Given the description of an element on the screen output the (x, y) to click on. 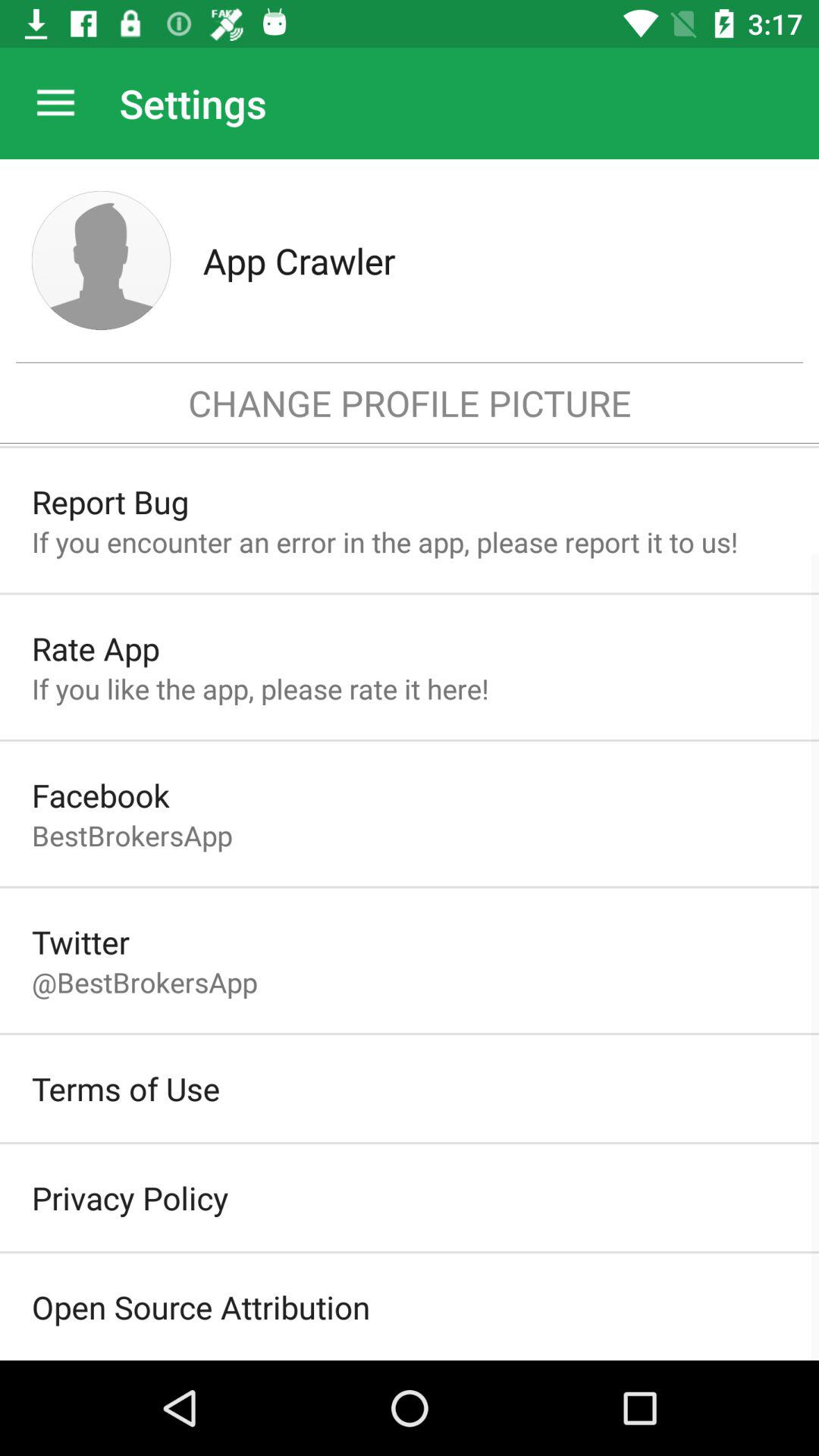
open icon to the left of the app crawler item (101, 260)
